Given the description of an element on the screen output the (x, y) to click on. 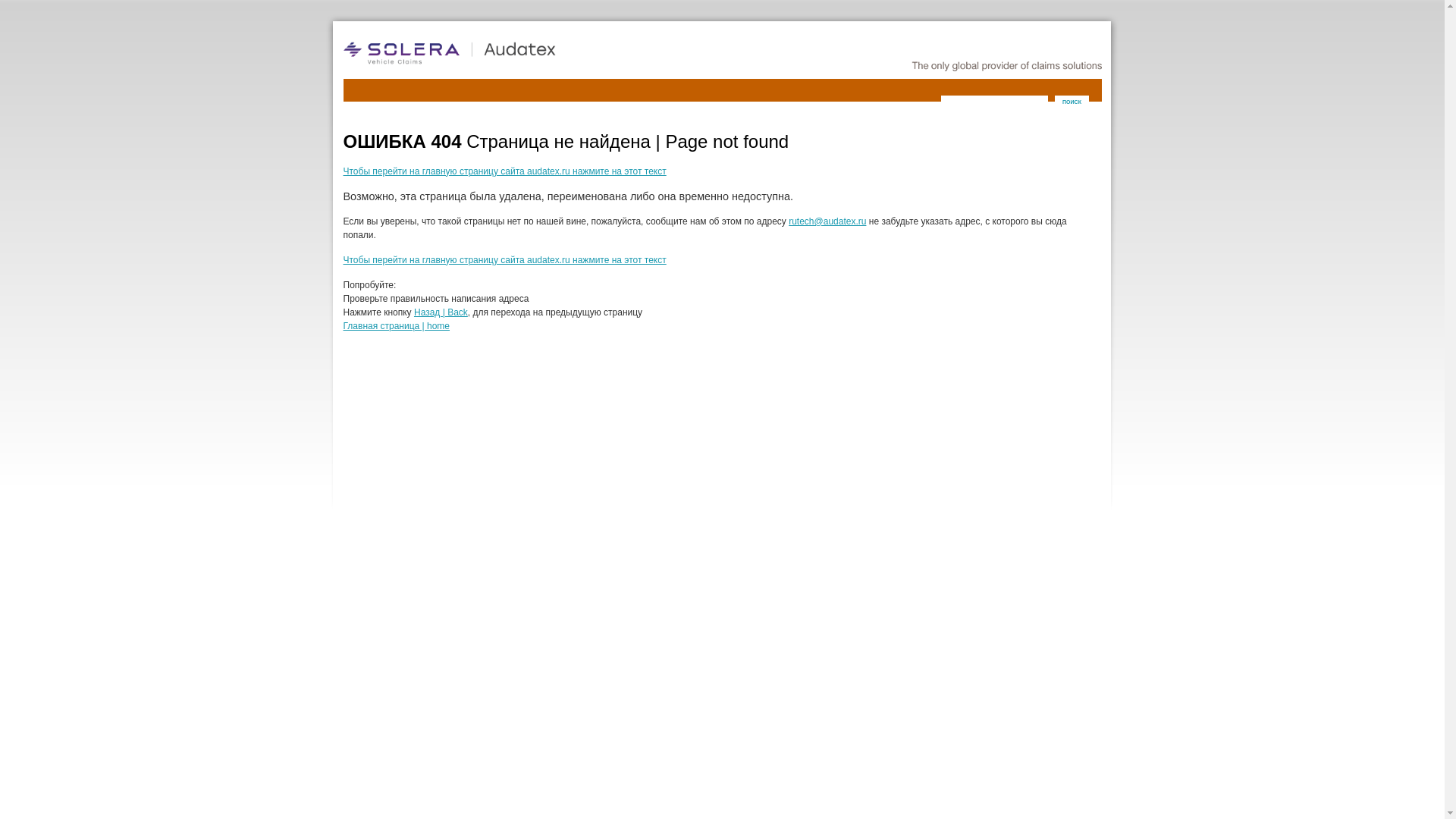
Audatex Element type: hover (494, 53)
rutech@audatex.ru Element type: text (827, 221)
